Given the description of an element on the screen output the (x, y) to click on. 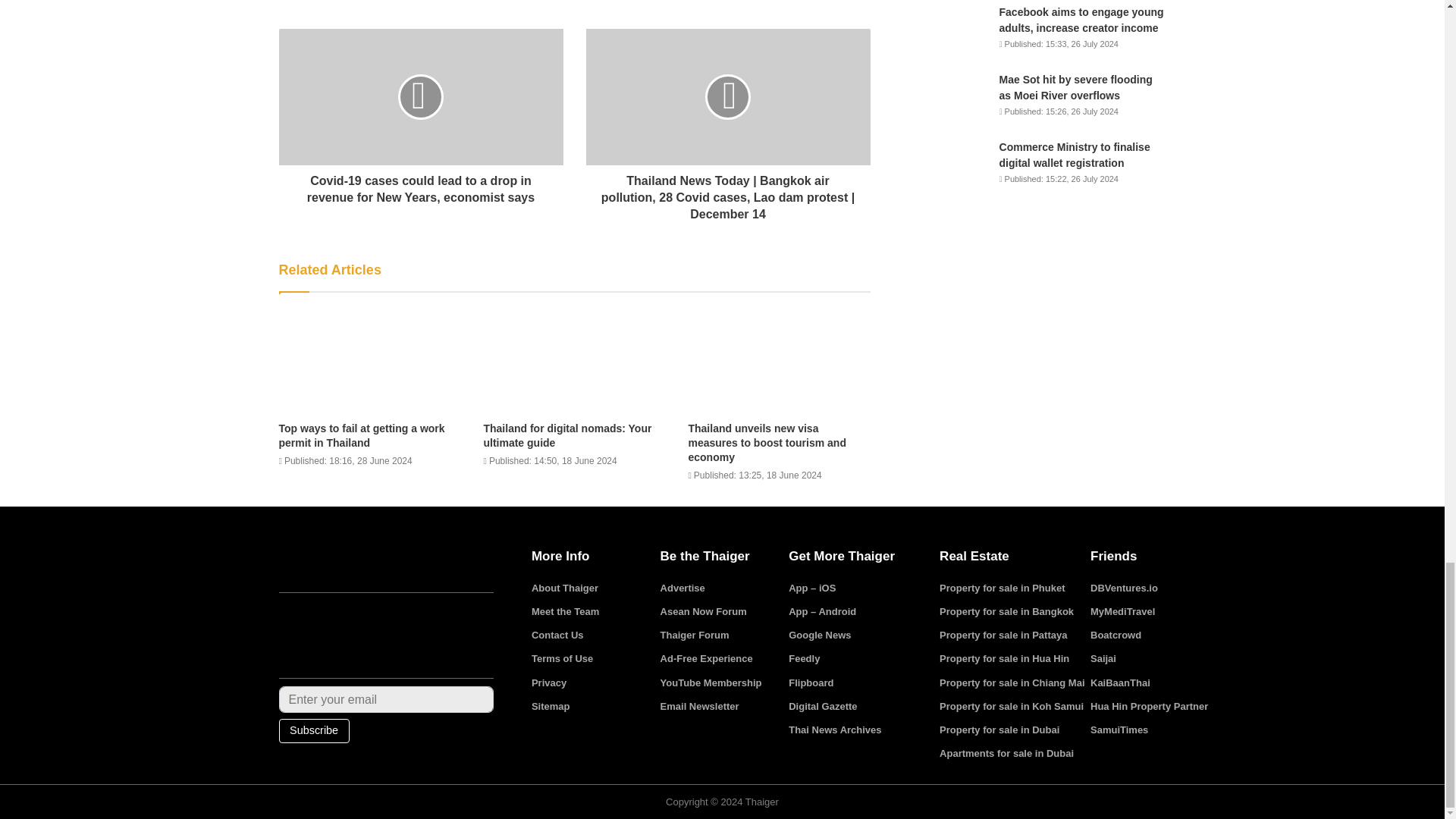
Subscribe (314, 730)
